Given the description of an element on the screen output the (x, y) to click on. 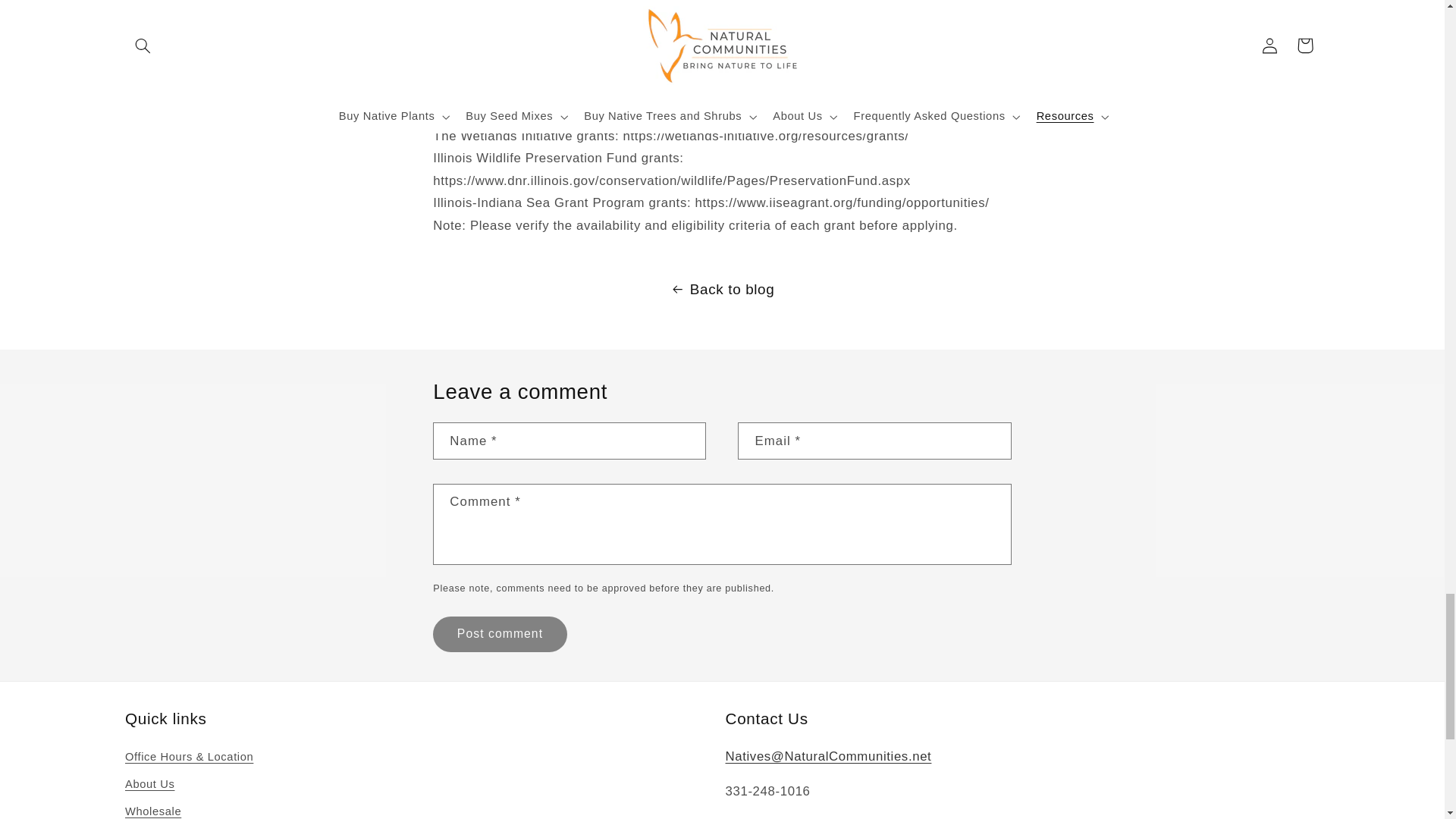
Post comment (499, 633)
